Given the description of an element on the screen output the (x, y) to click on. 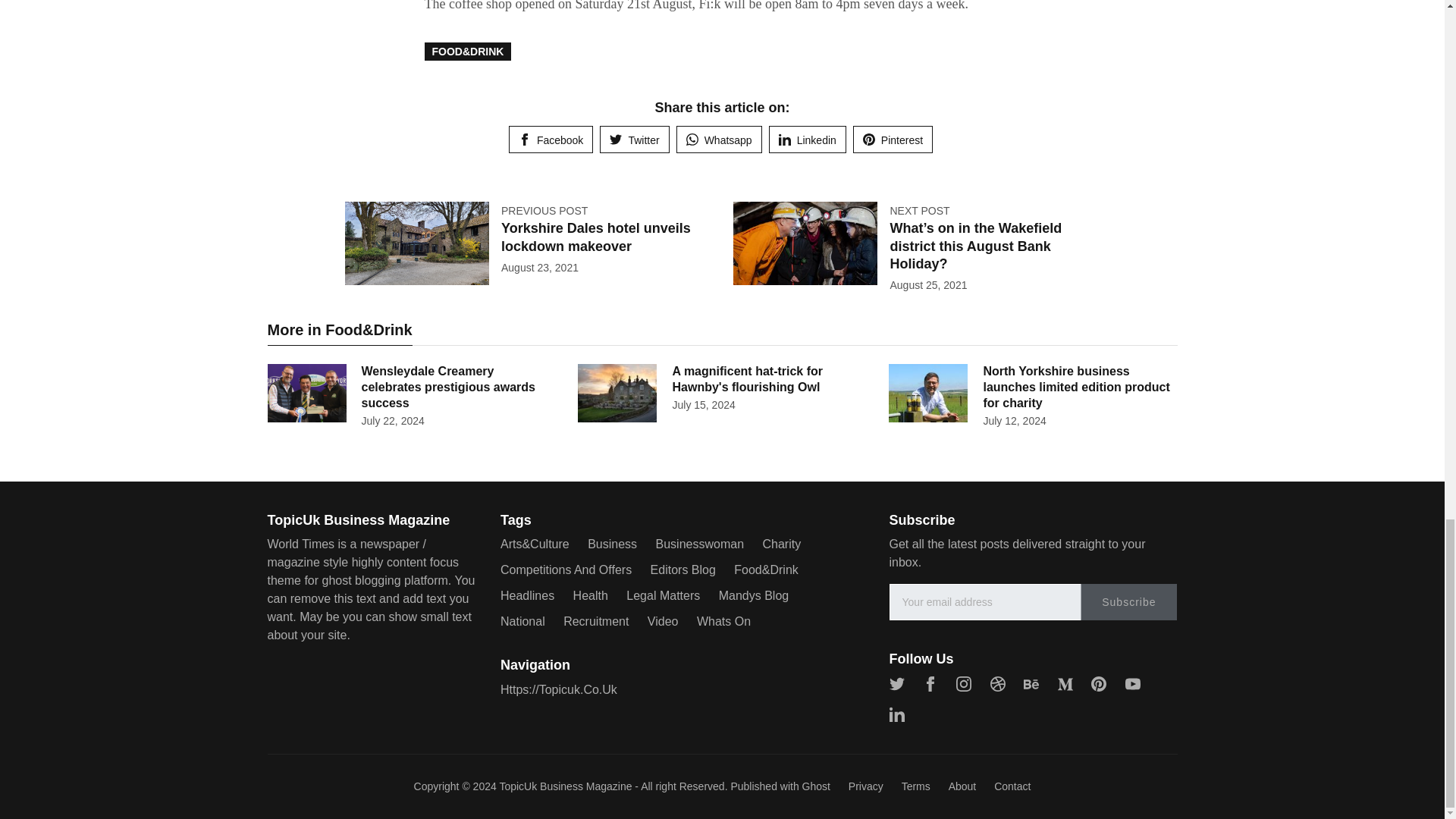
Linkedin (806, 139)
Share on Facebook (550, 139)
A magnificent hat-trick for Hawnby's flourishing Owl (746, 378)
Share on Twitter (633, 139)
22 July, 2024 (392, 420)
Pinterest (893, 139)
PREVIOUS POST (544, 210)
Wensleydale Creamery celebrates prestigious awards success (447, 386)
25 August, 2021 (927, 285)
12 July, 2024 (1013, 420)
Twitter (633, 139)
NEXT POST (919, 210)
Share on Pinterest (893, 139)
Facebook (550, 139)
Yorkshire Dales hotel unveils lockdown makeover (595, 236)
